Given the description of an element on the screen output the (x, y) to click on. 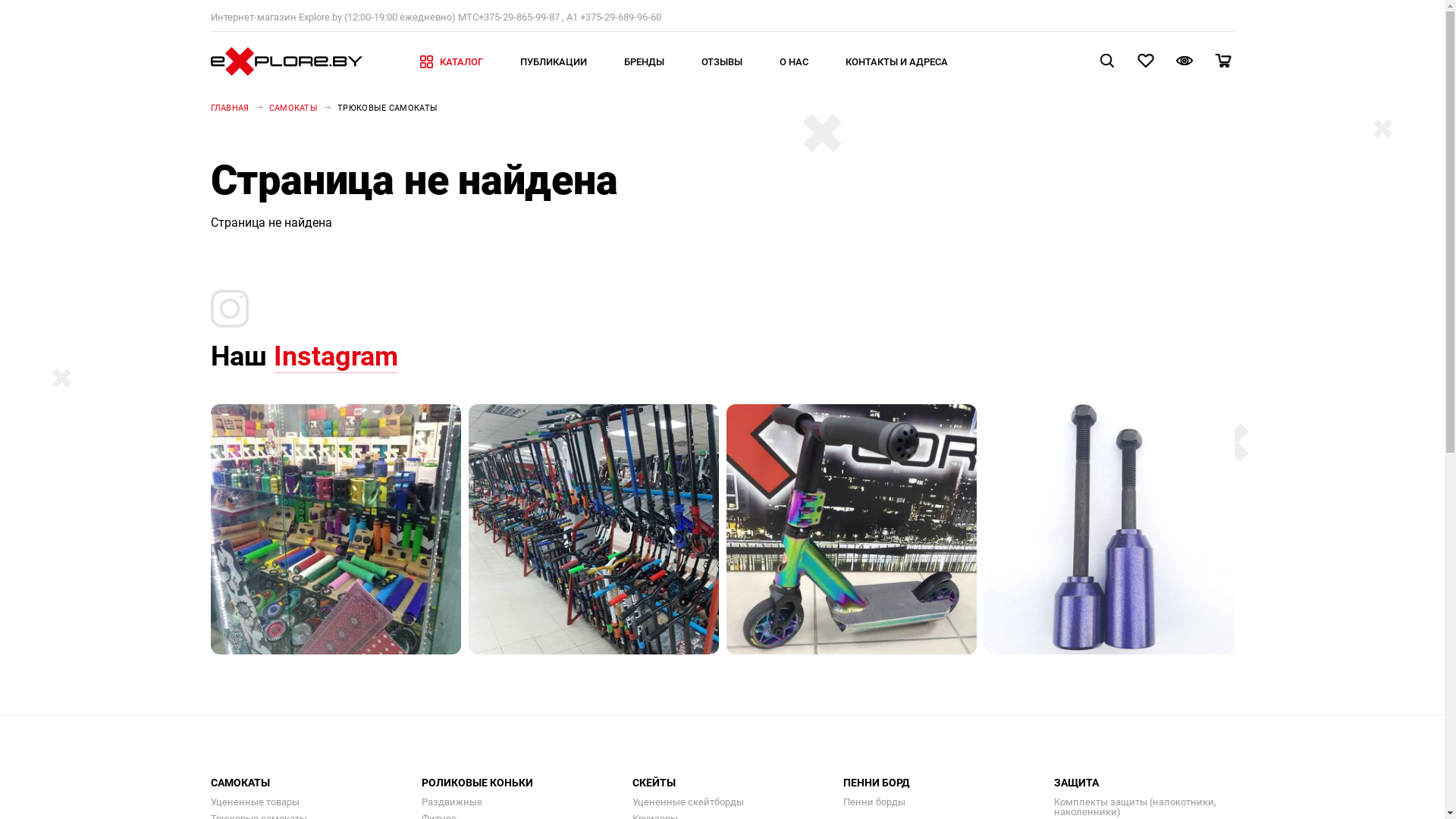
Instagram Element type: text (335, 356)
